Given the description of an element on the screen output the (x, y) to click on. 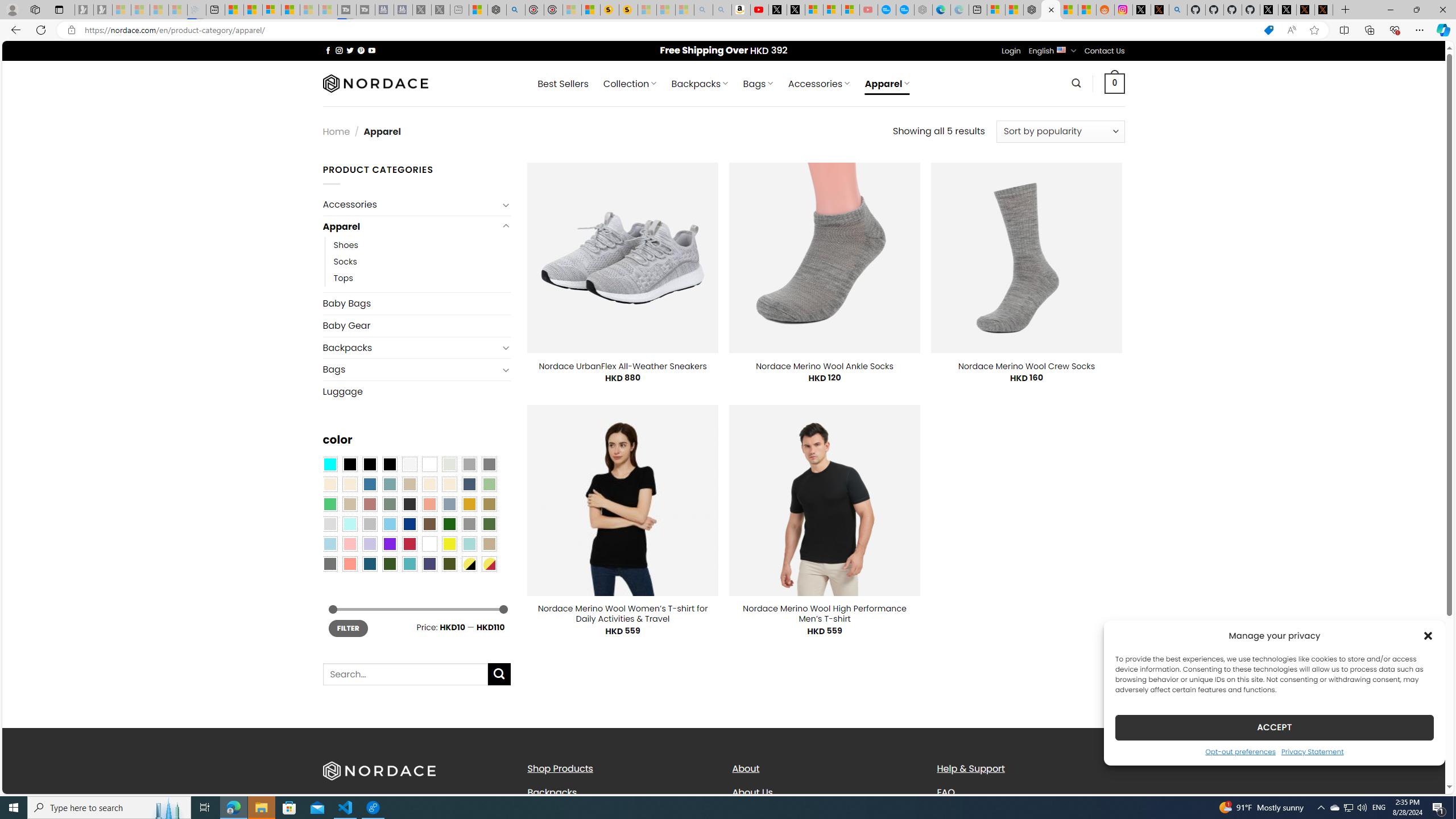
Light Gray (329, 523)
Gray (468, 523)
Socks (344, 262)
 Best Sellers (562, 83)
Gloom - YouTube - Sleeping (868, 9)
Opt-out preferences (1240, 750)
Gold (468, 503)
Dark Green (449, 523)
